Given the description of an element on the screen output the (x, y) to click on. 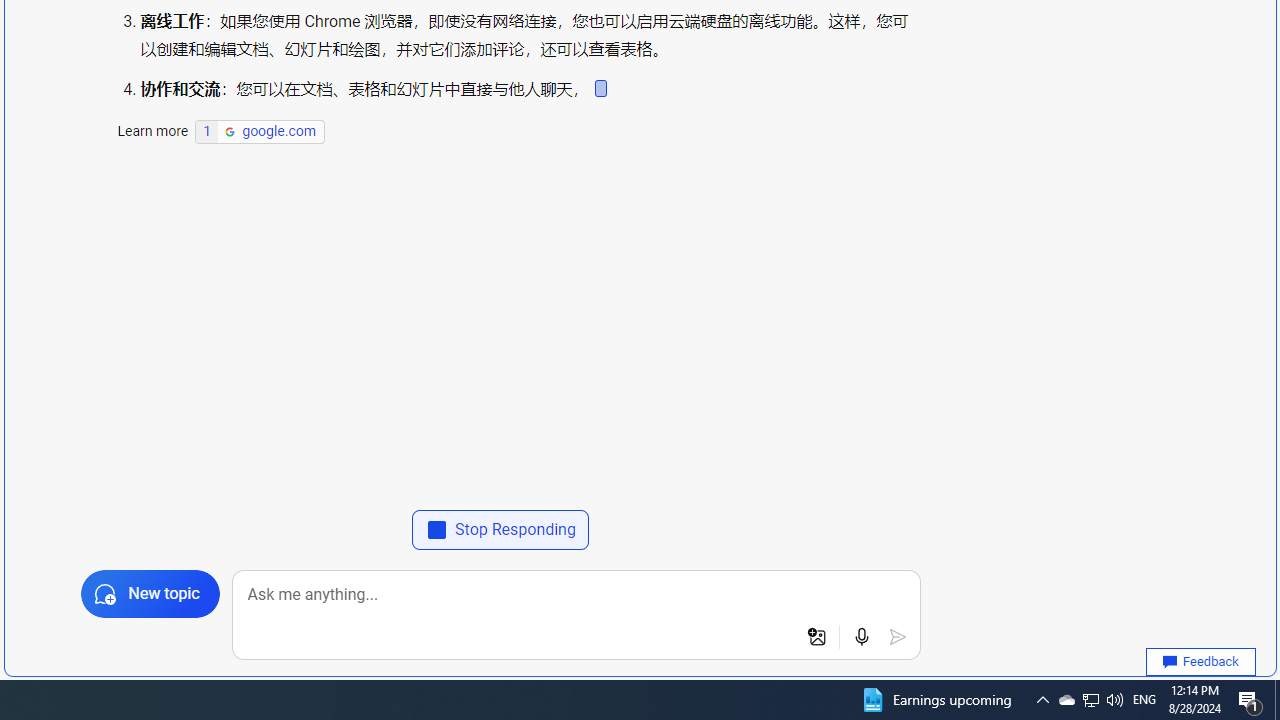
Ask me anything... (575, 594)
New topic (149, 593)
Submit (897, 637)
Stop Responding (500, 529)
Use microphone (861, 637)
Add an image to search (815, 637)
